Given the description of an element on the screen output the (x, y) to click on. 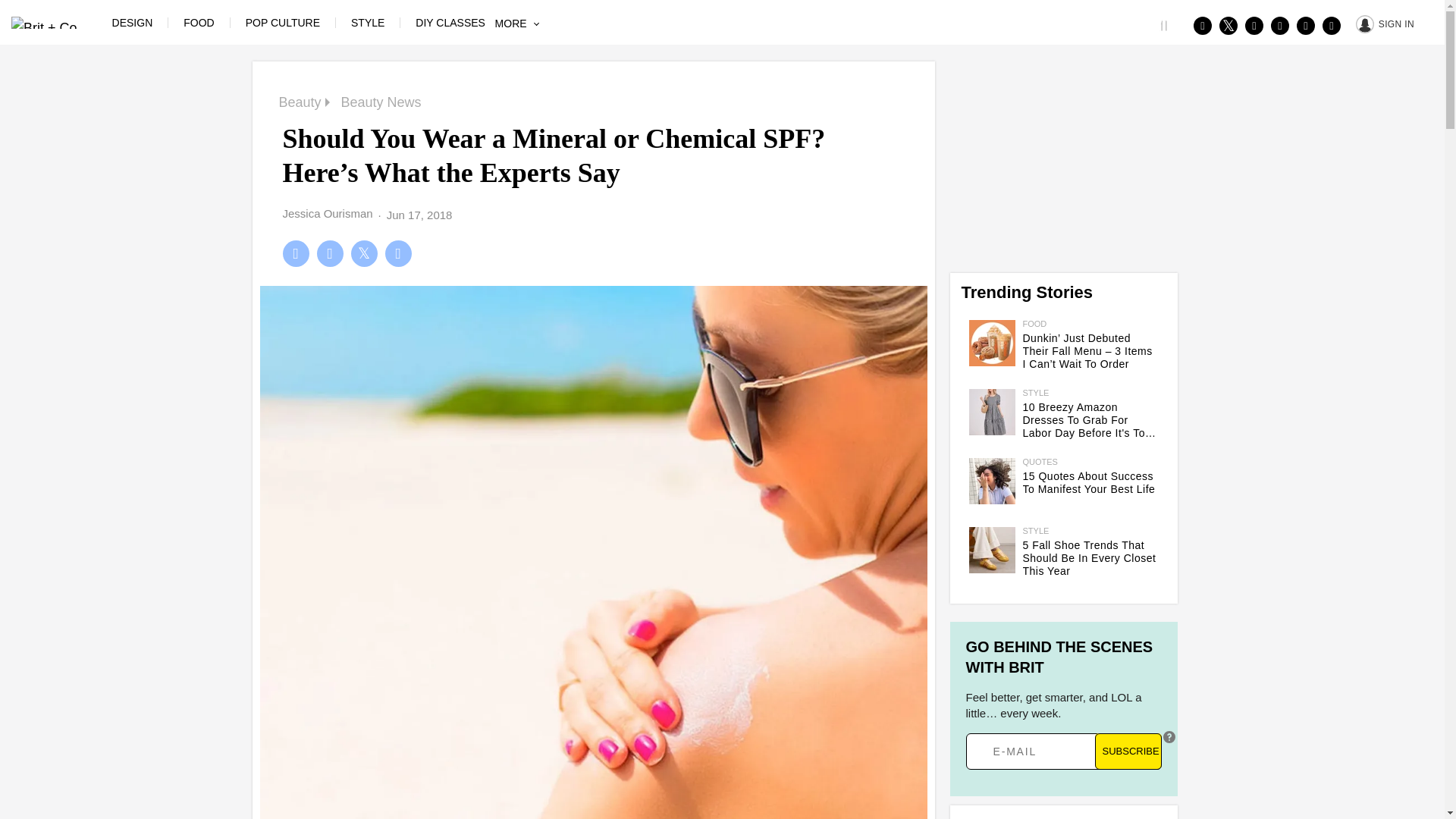
DESIGN (132, 22)
STYLE (367, 22)
SIGN IN (1384, 23)
POP CULTURE (283, 22)
FOOD (198, 22)
DIY CLASSES (449, 22)
